Given the description of an element on the screen output the (x, y) to click on. 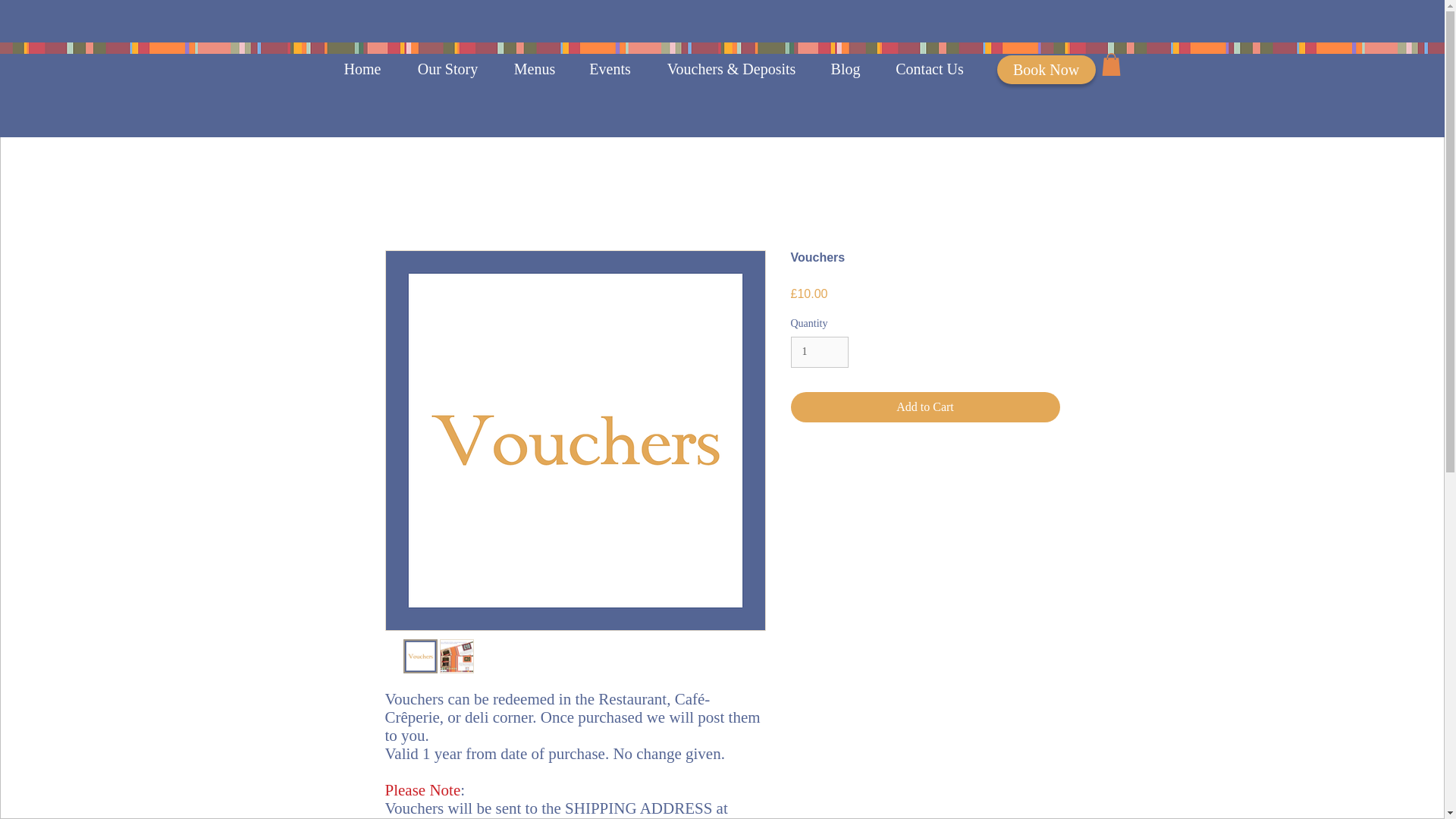
Our Story (447, 68)
Add to Cart (924, 407)
1 (818, 351)
Book Now (1044, 69)
Menus (534, 68)
Reservations (1039, 68)
Contact Us (930, 68)
Home (361, 68)
Blog (844, 68)
